Given the description of an element on the screen output the (x, y) to click on. 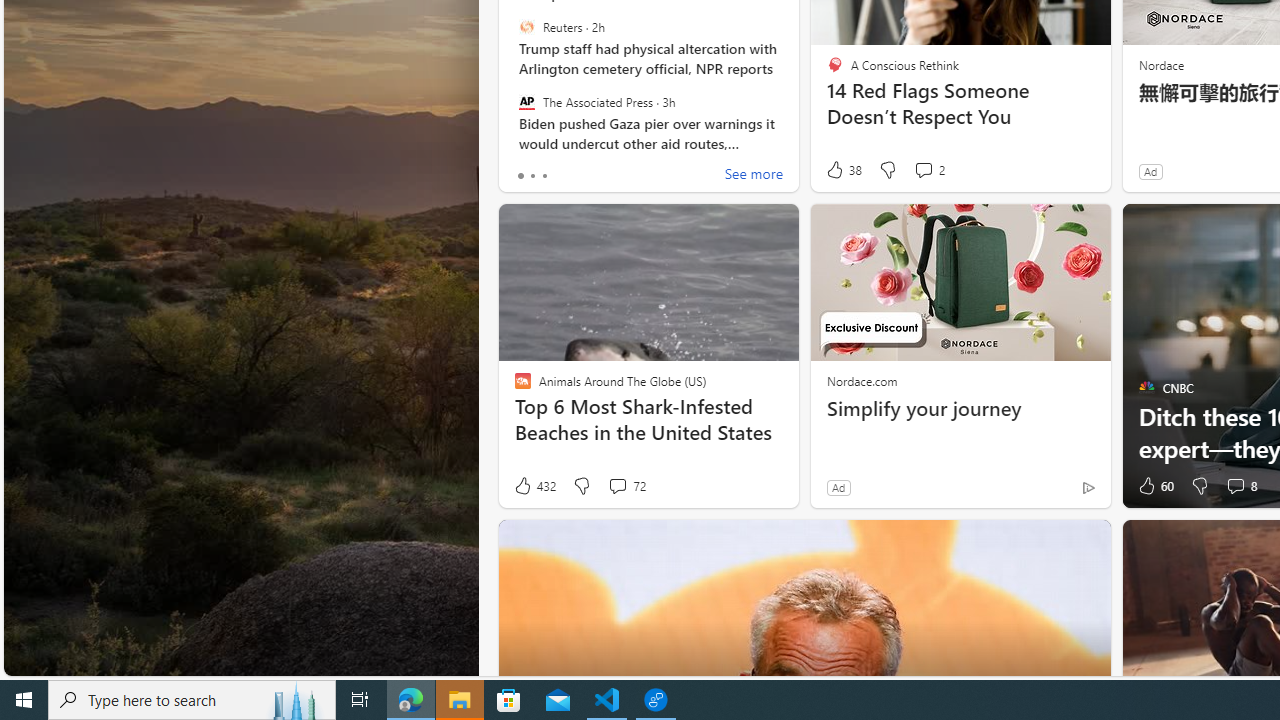
View comments 72 Comment (617, 485)
The Associated Press (526, 101)
38 Like (843, 170)
Nordace.com (861, 380)
Simplify your journey (959, 408)
60 Like (1154, 485)
View comments 8 Comment (1234, 485)
